Given the description of an element on the screen output the (x, y) to click on. 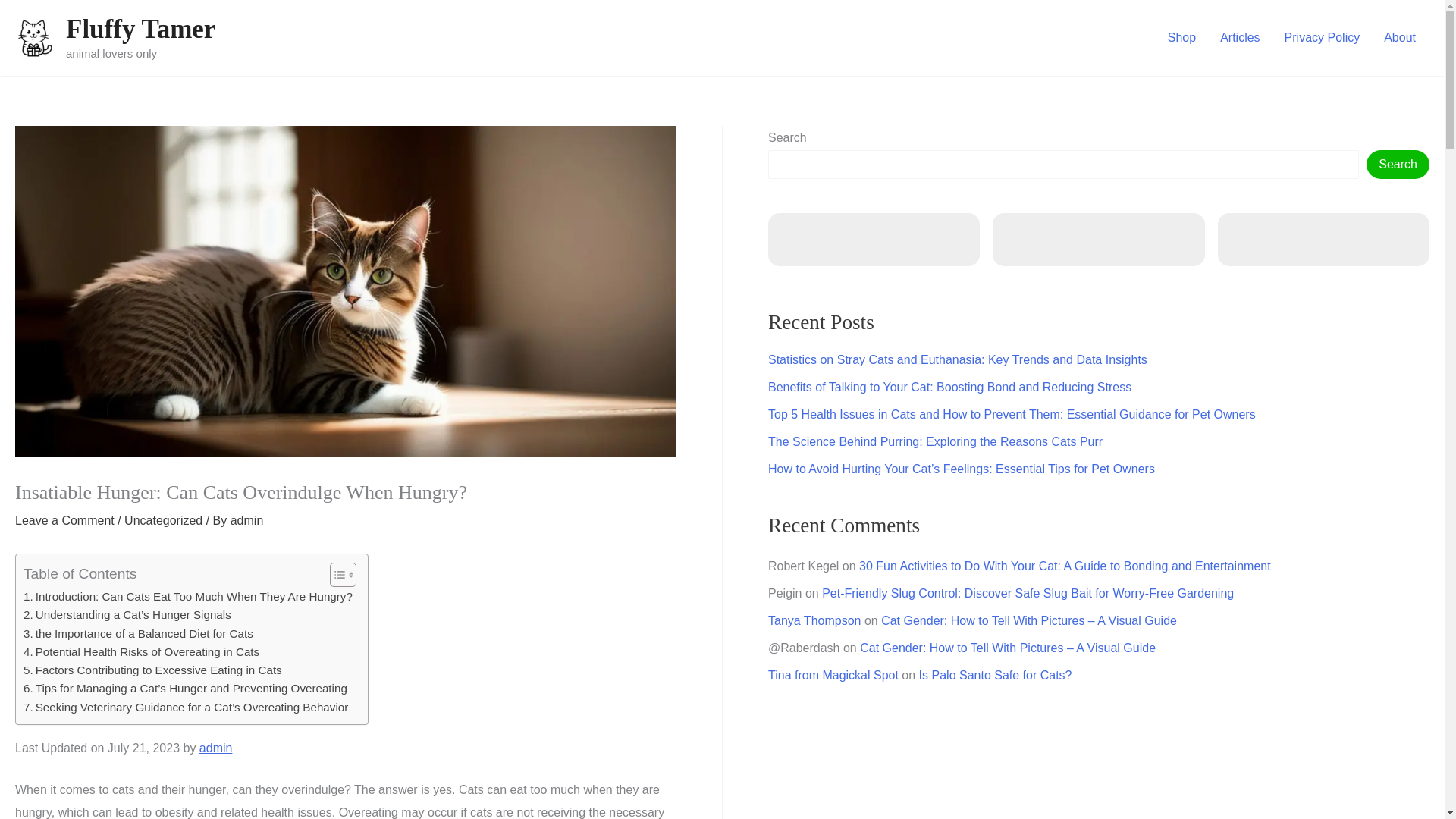
View all posts by admin (246, 520)
Search (1398, 164)
Potential Health Risks of Overeating in Cats (141, 651)
admin (246, 520)
Introduction: Can Cats Eat Too Much When They Are Hungry? (187, 597)
Shop (1182, 37)
Potential Health Risks of Overeating in Cats (141, 651)
Factors Contributing to Excessive Eating in Cats (152, 669)
About (1399, 37)
